Given the description of an element on the screen output the (x, y) to click on. 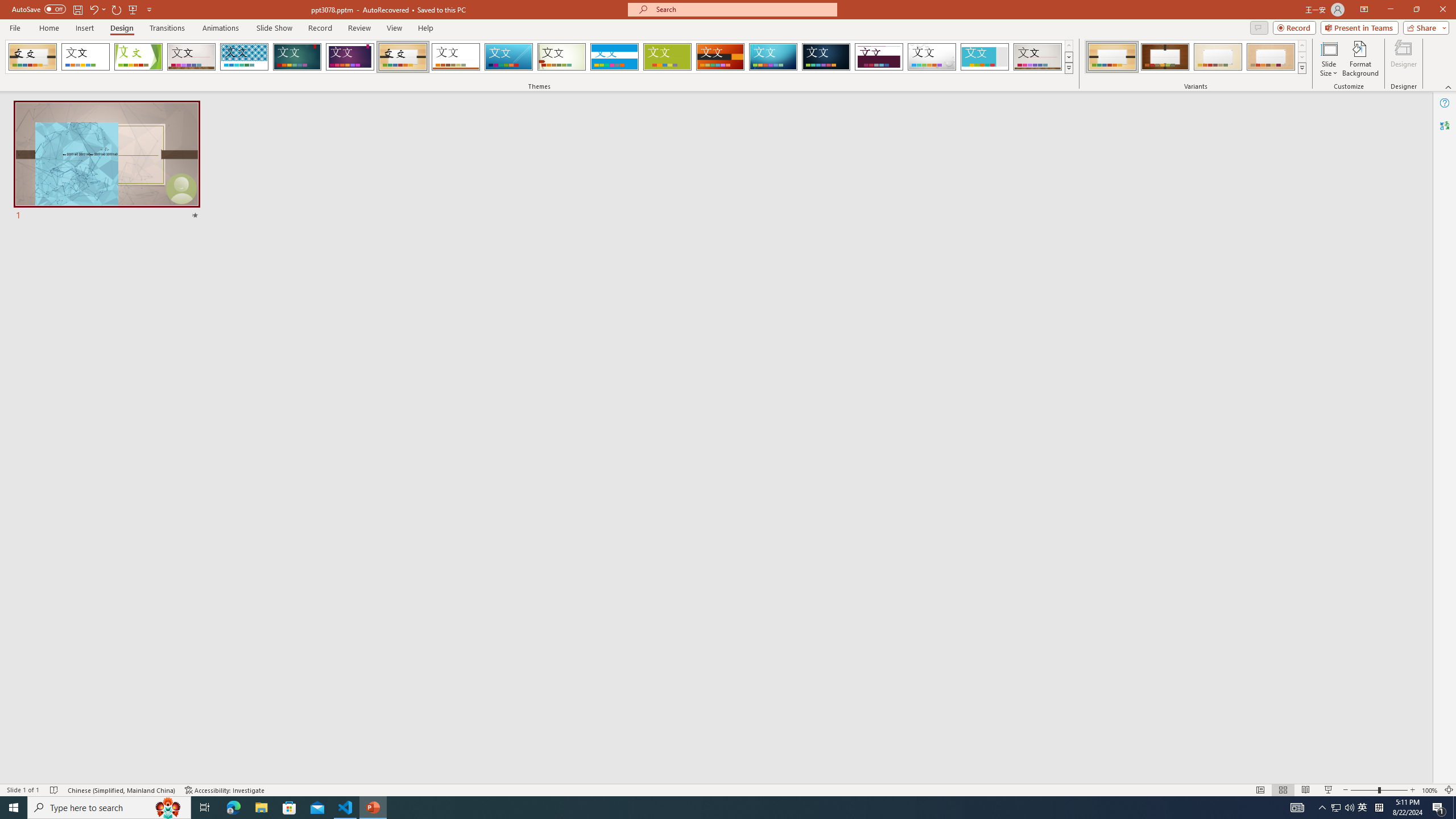
Slide Size (1328, 58)
Organic Variant 2 (1164, 56)
Frame (984, 56)
Banded (614, 56)
Gallery (1037, 56)
